Given the description of an element on the screen output the (x, y) to click on. 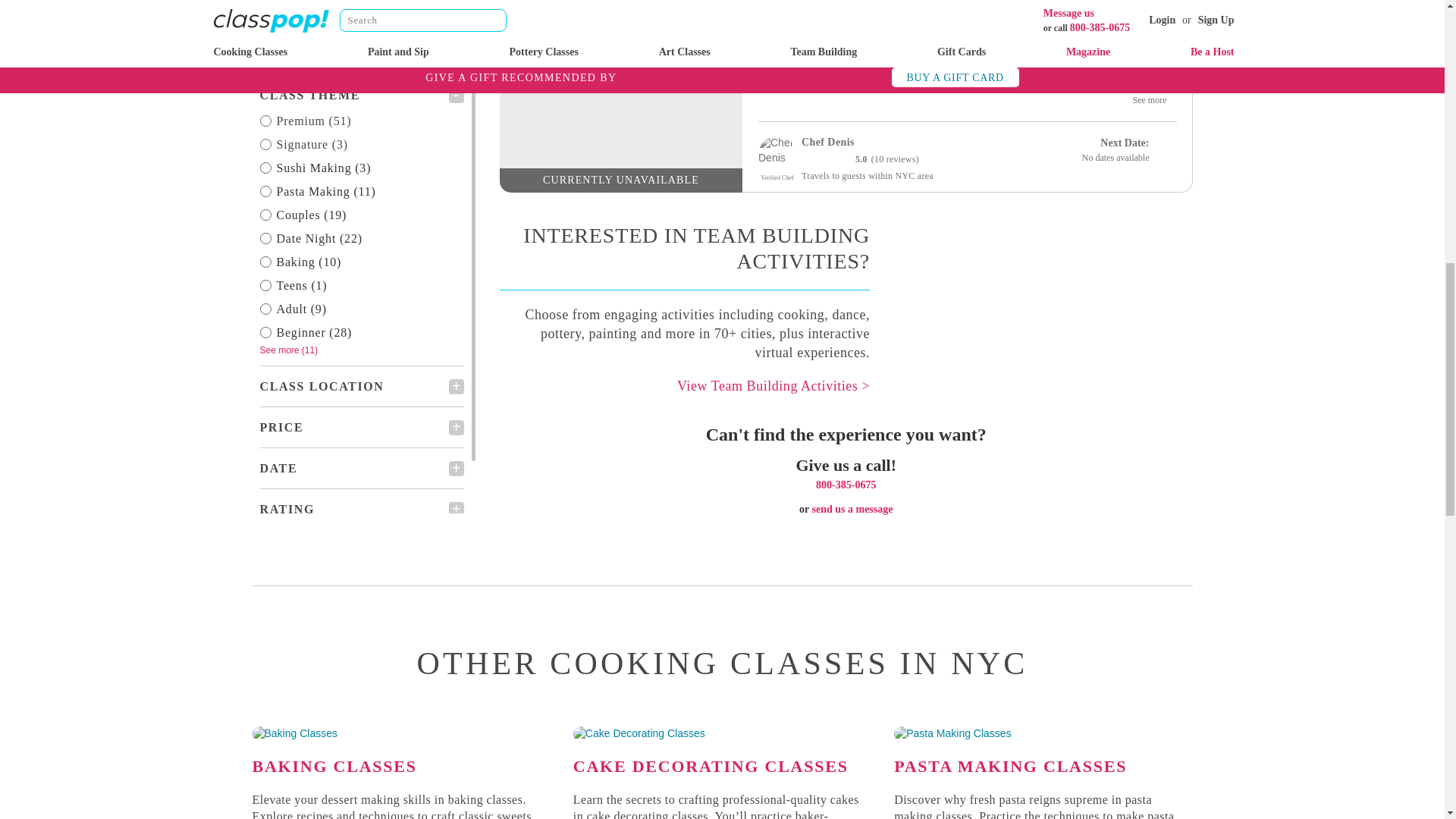
Class Location (361, 295)
Duration (361, 459)
Price (361, 336)
Active classtype (361, 5)
Rating (361, 418)
Date (361, 377)
